Given the description of an element on the screen output the (x, y) to click on. 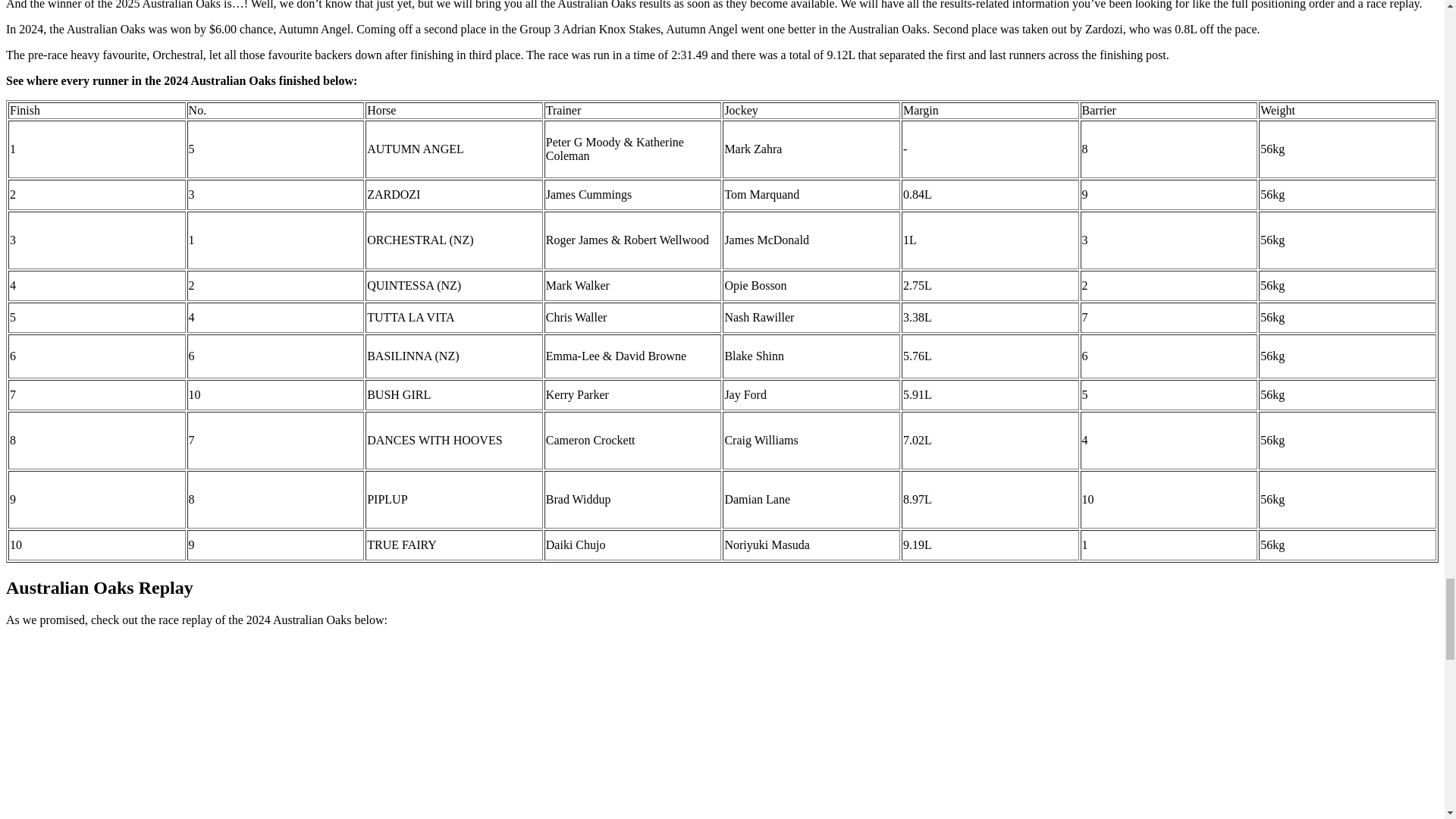
YouTube video player (217, 729)
